Given the description of an element on the screen output the (x, y) to click on. 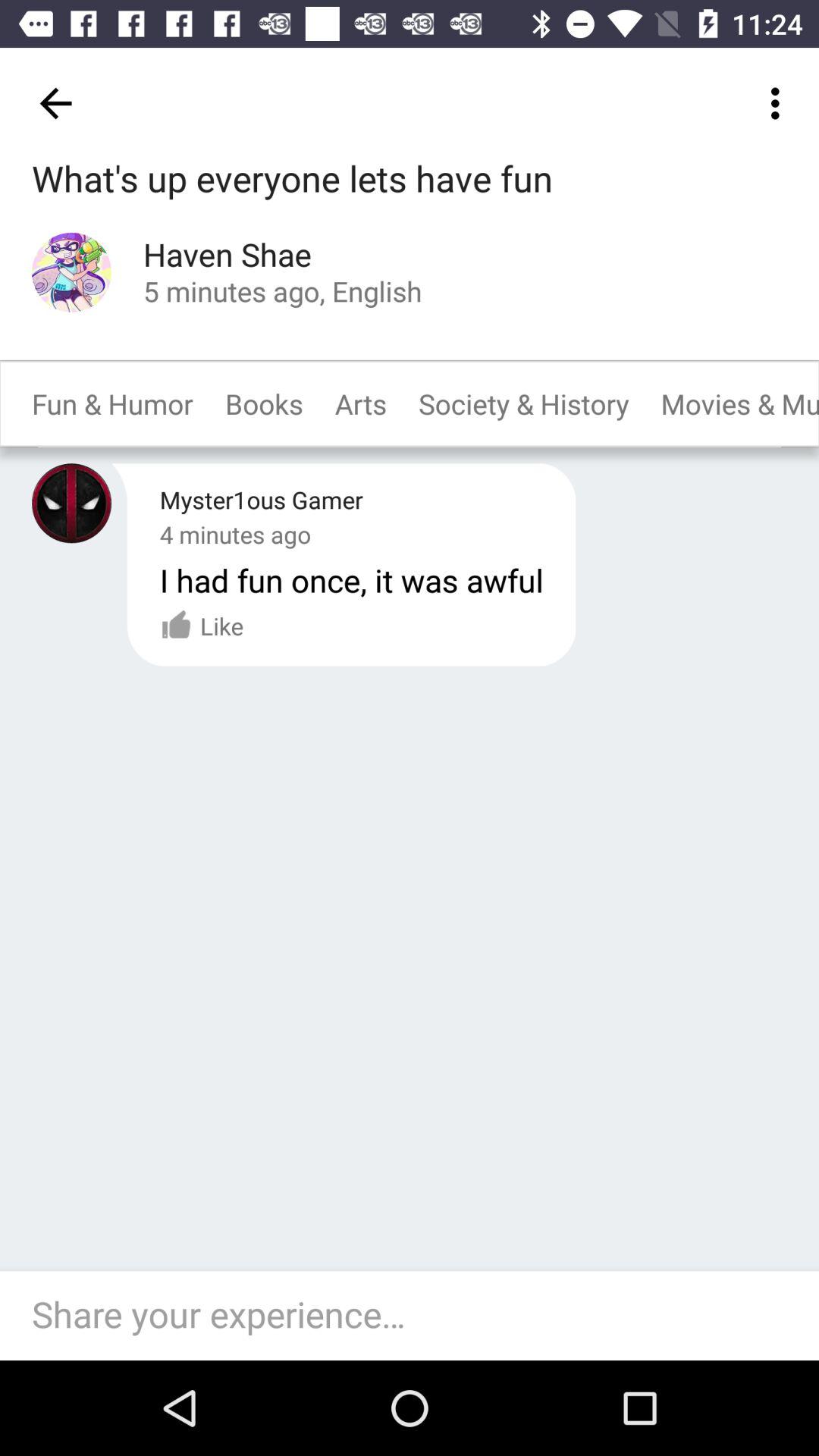
select the icon below the like item (417, 1315)
